Given the description of an element on the screen output the (x, y) to click on. 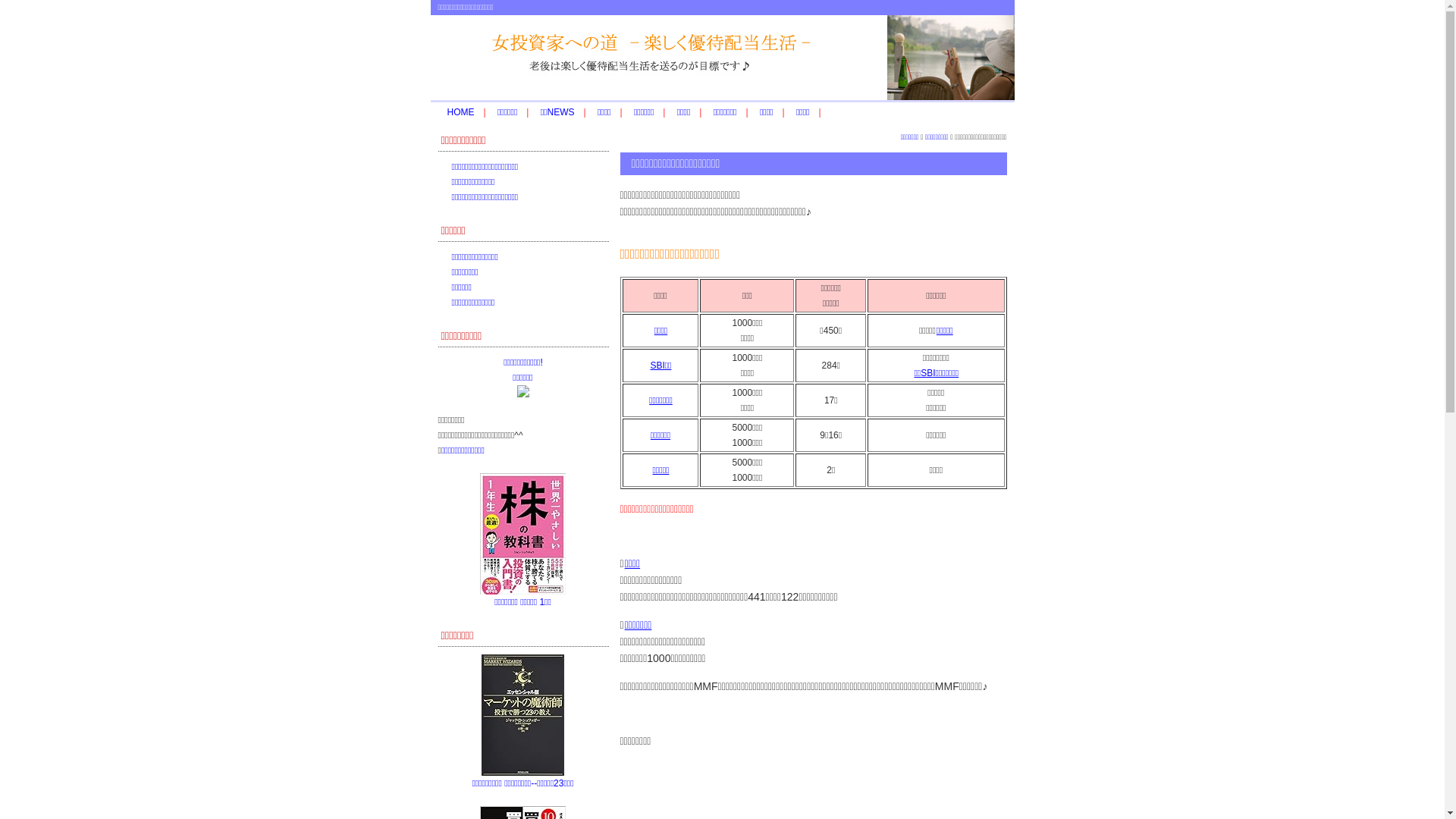
HOME Element type: text (460, 111)
